Given the description of an element on the screen output the (x, y) to click on. 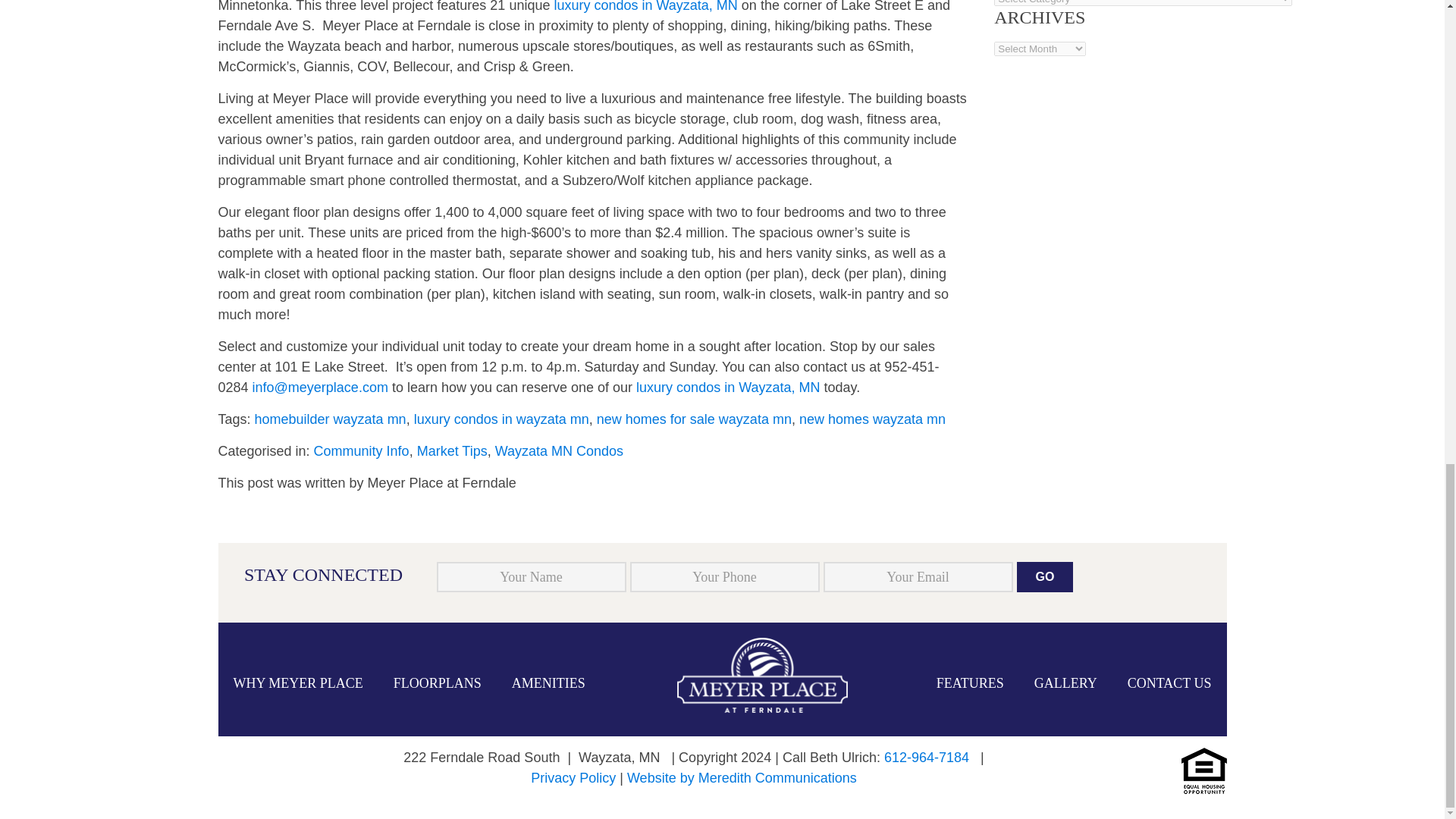
homebuilder wayzata mn (330, 418)
Wayzata MN Condos (559, 450)
Community Info (361, 450)
Market Tips (451, 450)
luxury condos in Wayzata, MN (644, 6)
new homes for sale wayzata mn (694, 418)
luxury condos in Wayzata, MN (727, 387)
GO (1045, 576)
new homes wayzata mn (871, 418)
luxury condos in wayzata mn (501, 418)
